Given the description of an element on the screen output the (x, y) to click on. 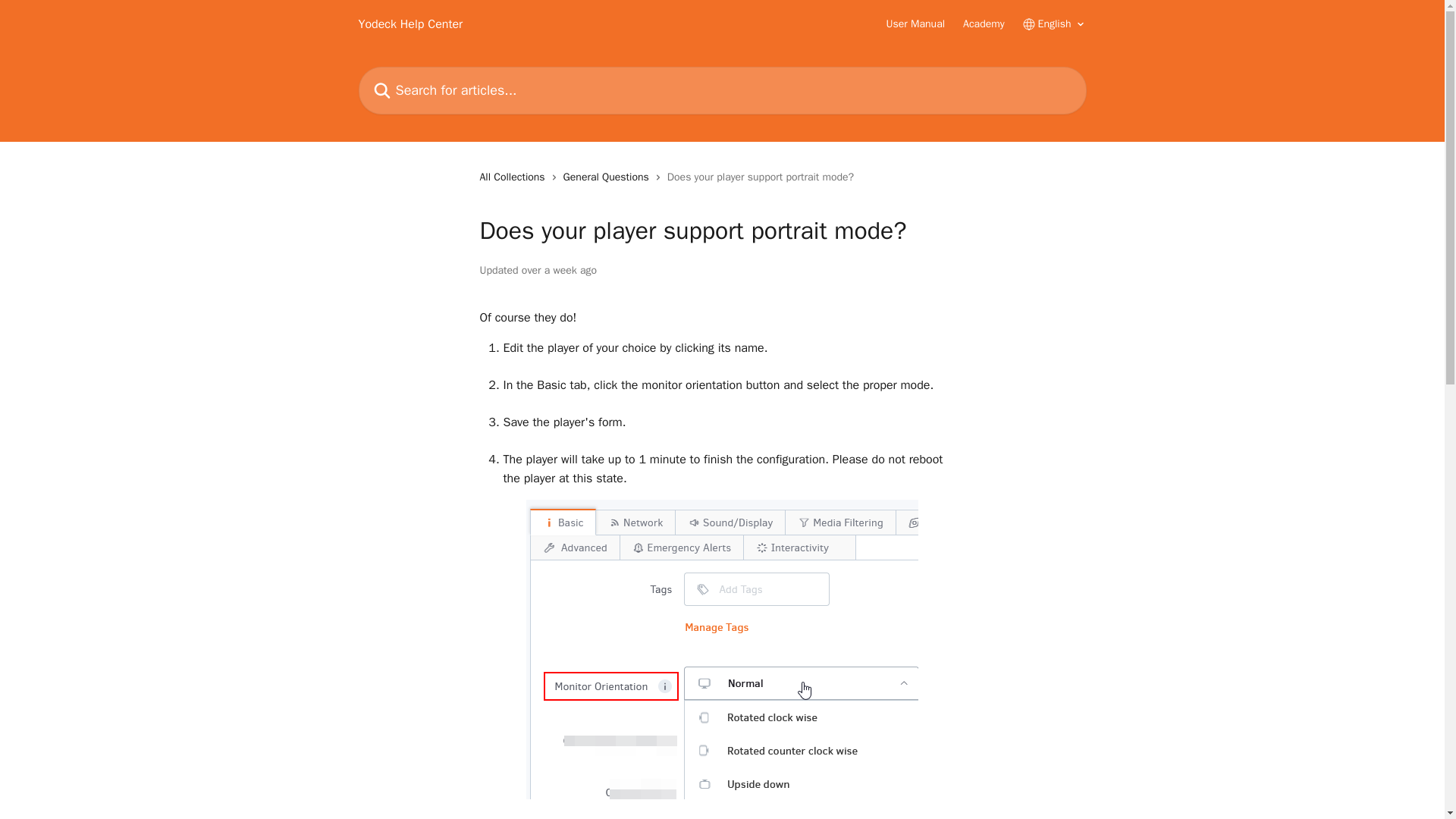
User Manual (915, 23)
Academy (983, 23)
All Collections (514, 176)
General Questions (609, 176)
